Given the description of an element on the screen output the (x, y) to click on. 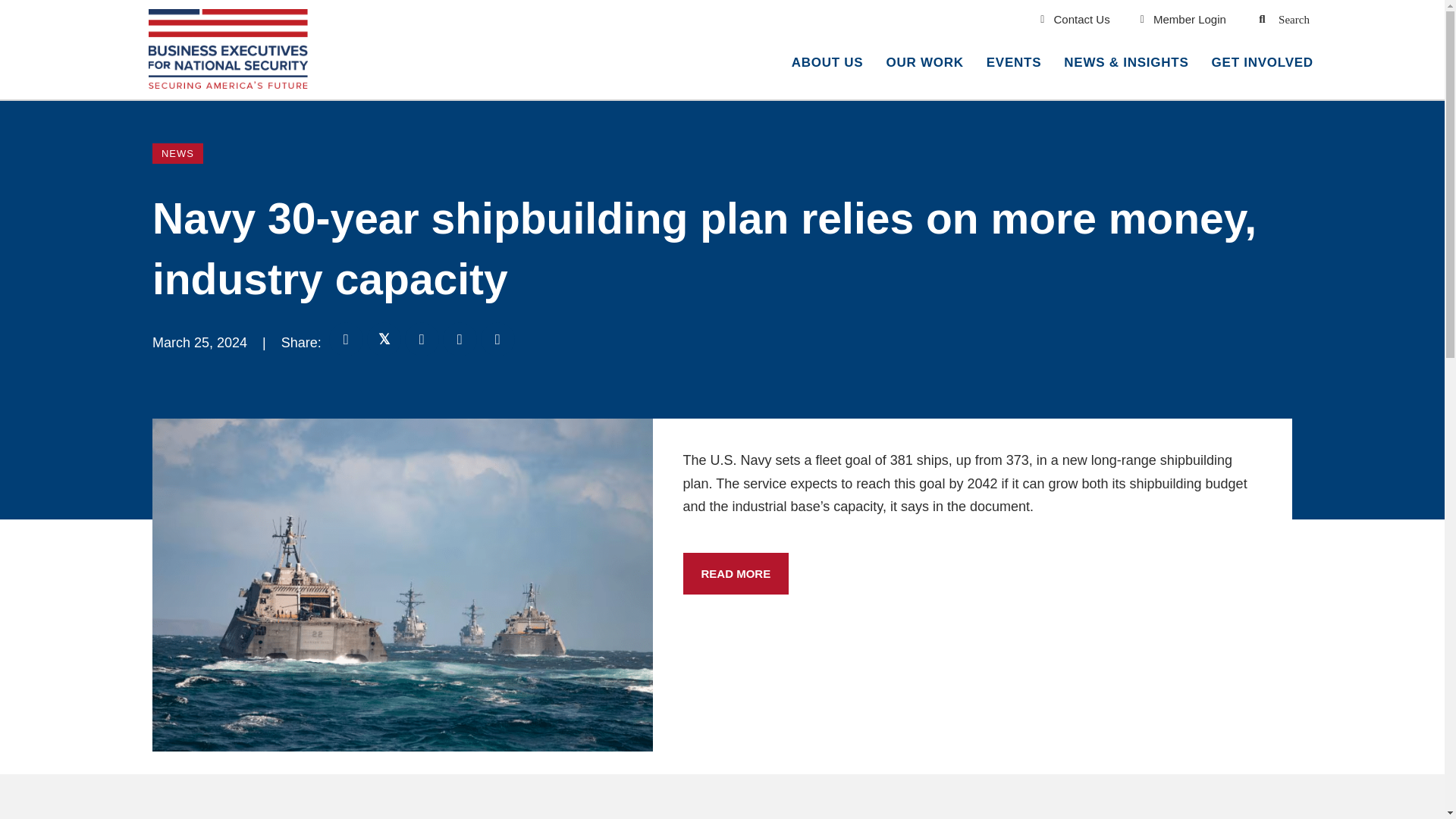
EVENTS (1013, 64)
ABOUT US (827, 64)
BENS Logo (227, 48)
OUR WORK (924, 64)
NEWS (177, 153)
Member Login (1182, 19)
GET INVOLVED (1261, 64)
Contact Us (1075, 19)
